Given the description of an element on the screen output the (x, y) to click on. 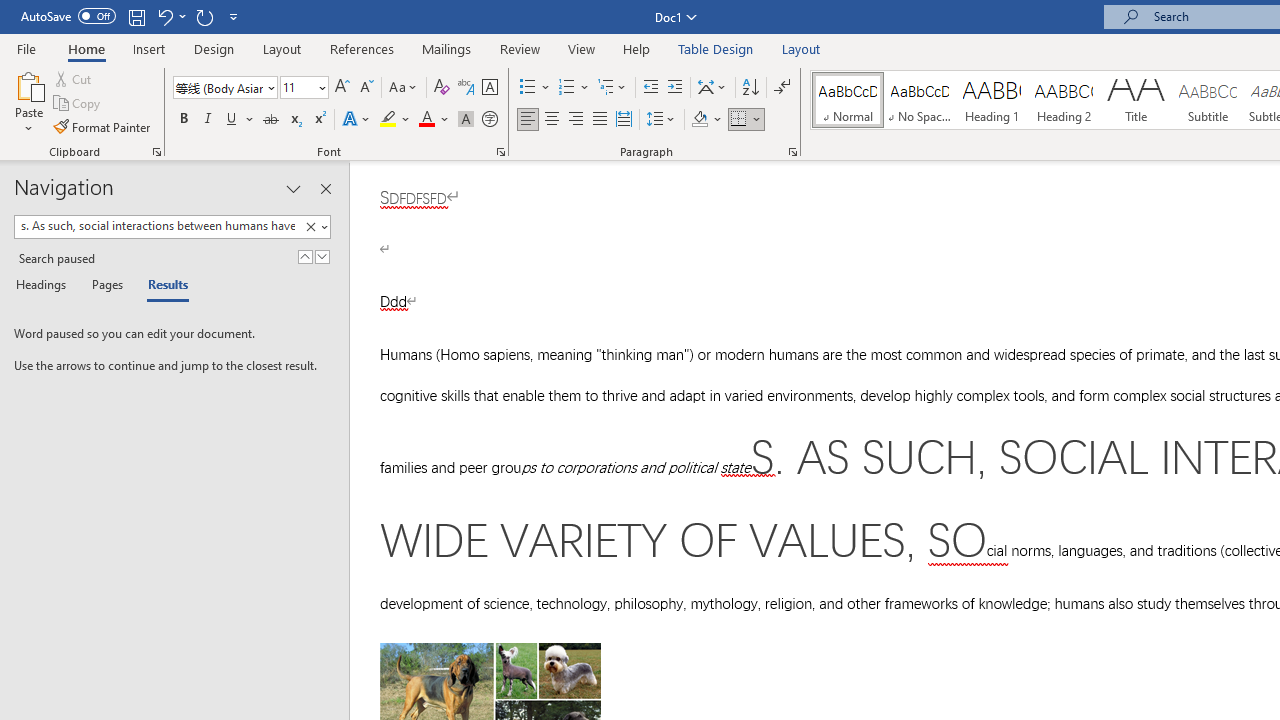
Center (552, 119)
Decrease Indent (650, 87)
Next Result (322, 256)
Show/Hide Editing Marks (781, 87)
Sort... (750, 87)
Results (161, 285)
Subscript (294, 119)
Pages (105, 285)
Clear (314, 227)
